Given the description of an element on the screen output the (x, y) to click on. 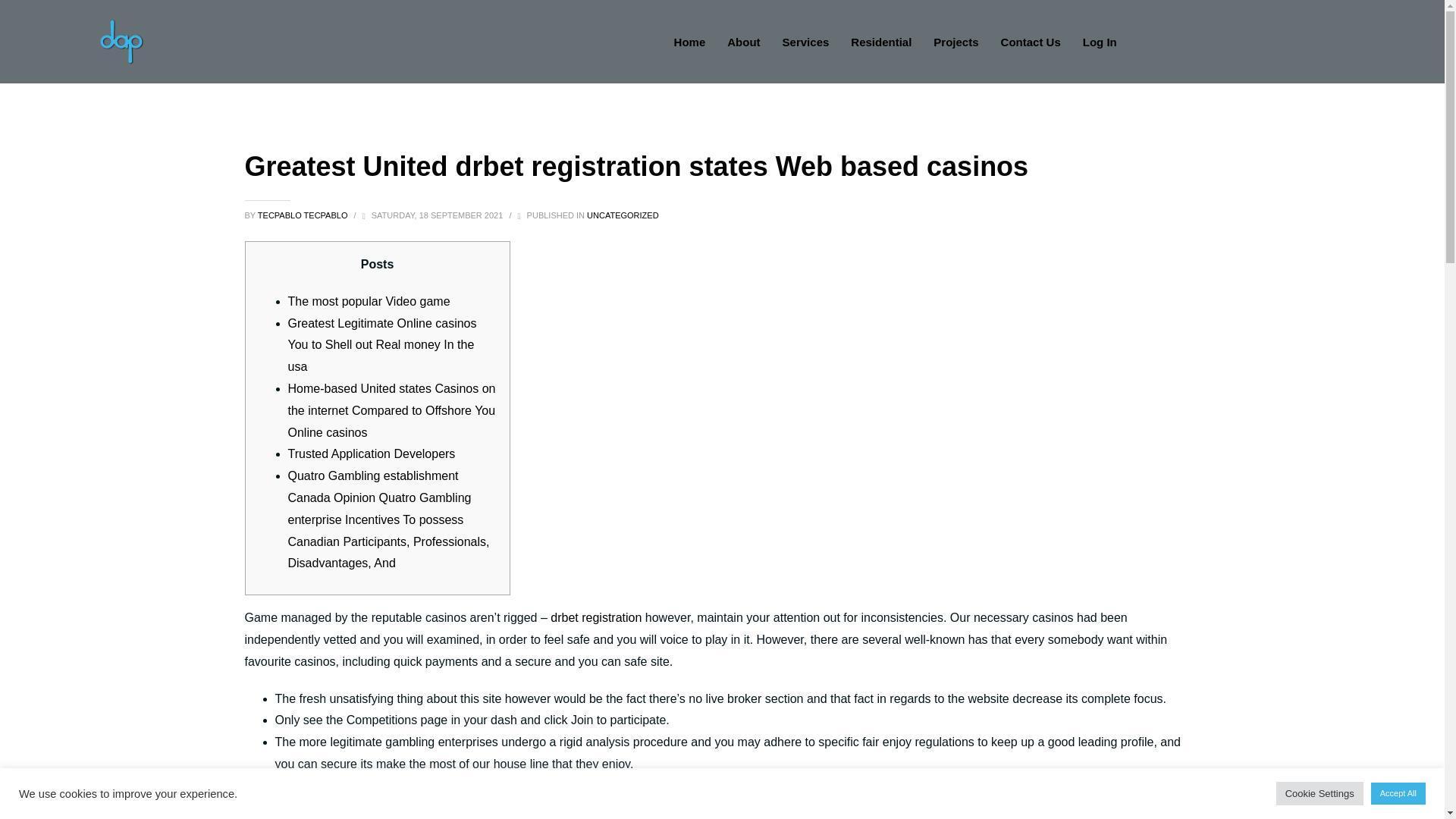
About (742, 41)
UNCATEGORIZED (622, 215)
The most popular Video game (368, 300)
Projects (955, 41)
We Are Cool (120, 41)
Home (689, 41)
TECPABLO TECPABLO (303, 215)
Trusted Application Developers (371, 453)
Residential (880, 41)
Log In (1099, 41)
drbet registration (596, 617)
Services (805, 41)
